Given the description of an element on the screen output the (x, y) to click on. 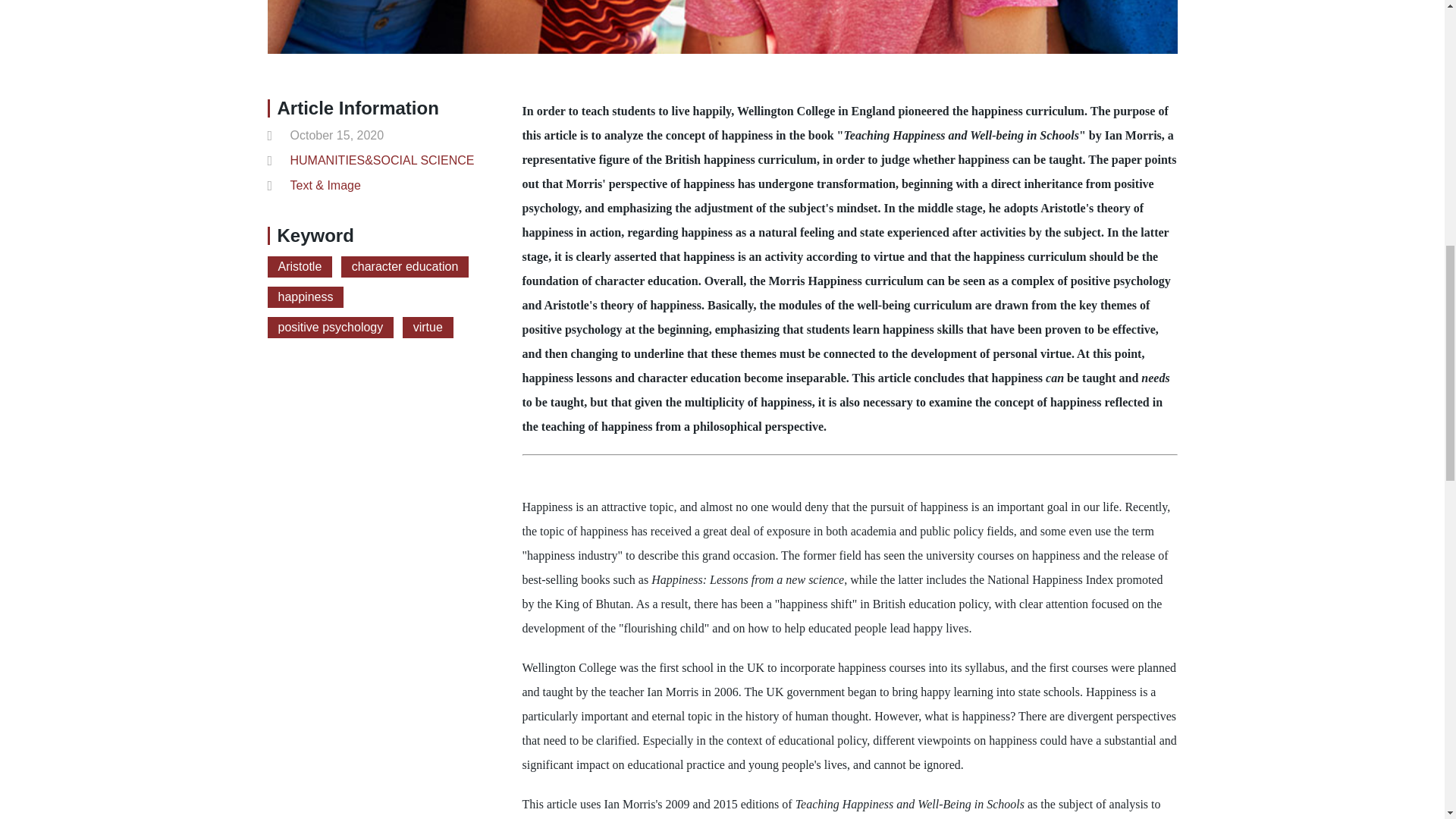
happiness (304, 296)
virtue (427, 327)
positive psychology (329, 327)
Aristotle (298, 266)
character education (404, 266)
